Given the description of an element on the screen output the (x, y) to click on. 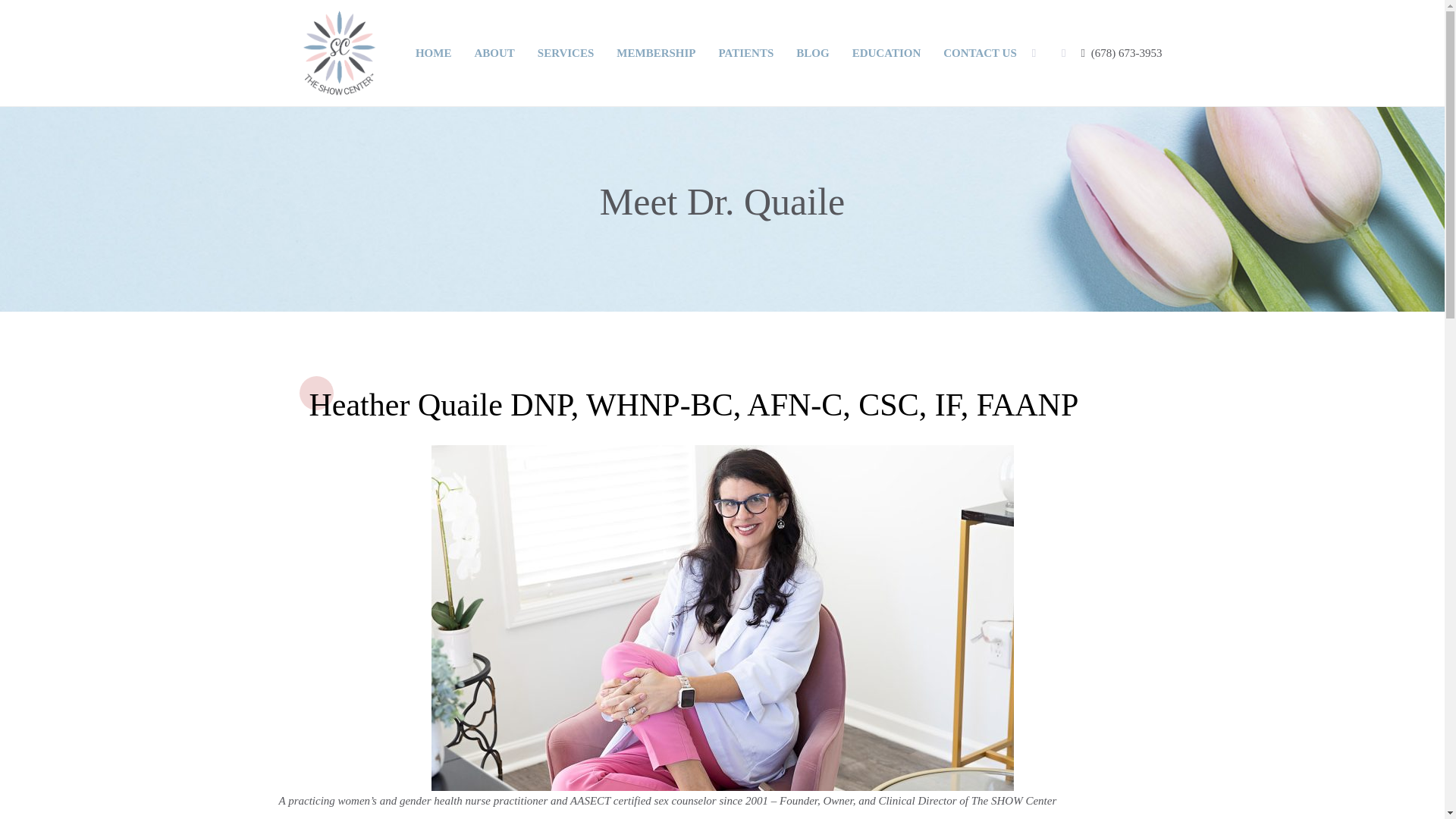
The SHOW Center (339, 52)
